Given the description of an element on the screen output the (x, y) to click on. 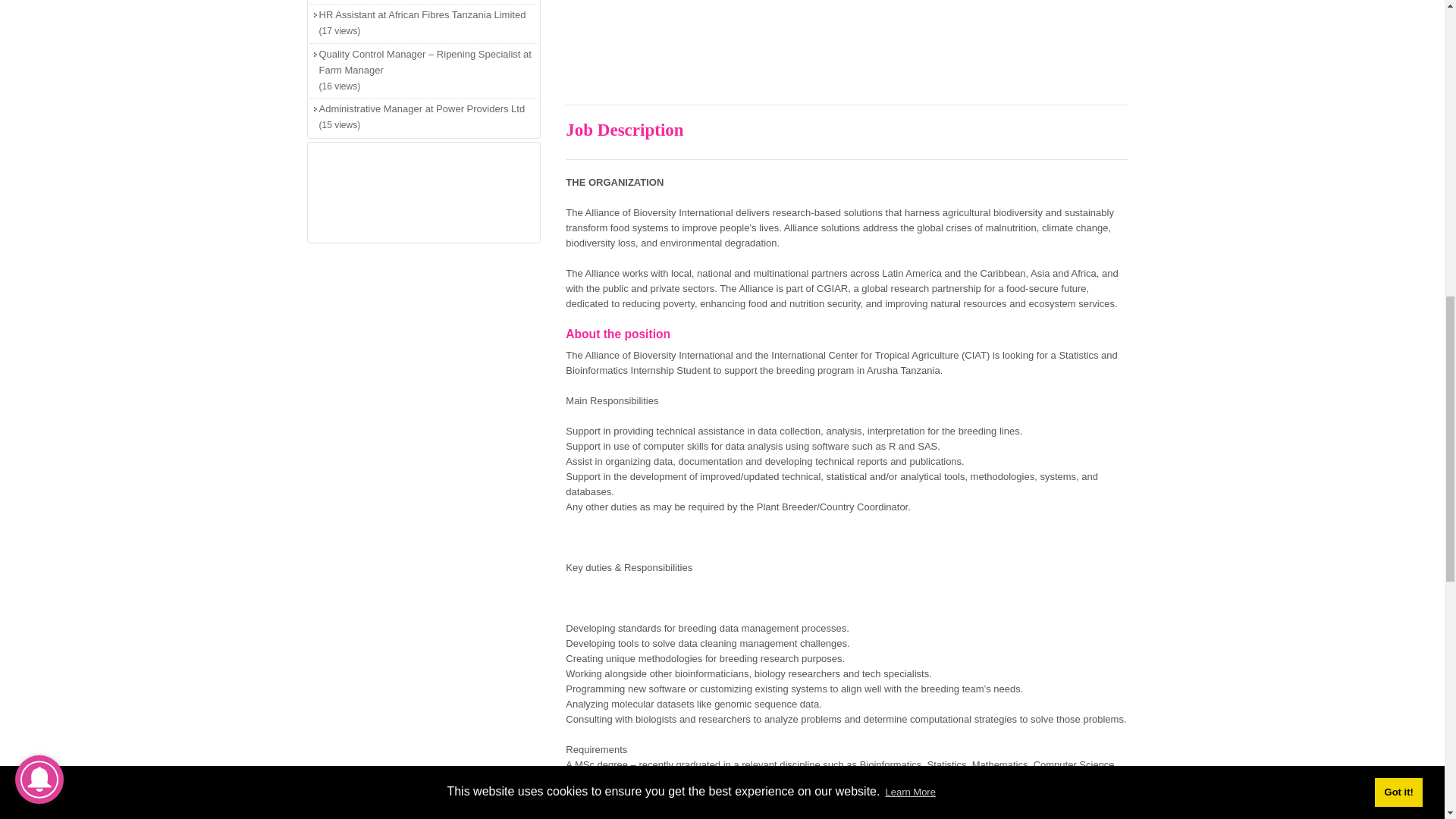
Advertisement (846, 48)
